Given the description of an element on the screen output the (x, y) to click on. 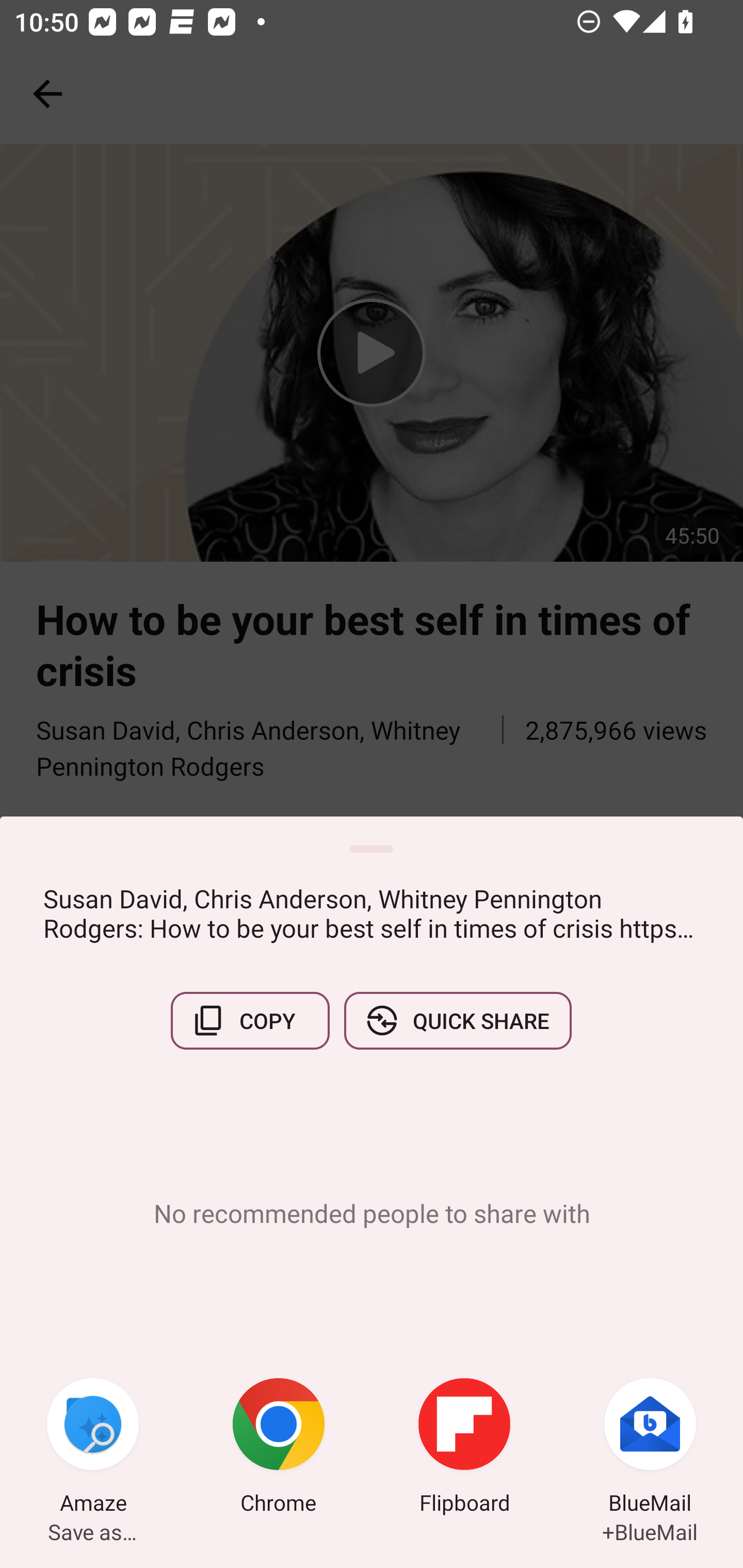
COPY (249, 1020)
QUICK SHARE (457, 1020)
Amaze Save as… (92, 1448)
Chrome (278, 1448)
Flipboard (464, 1448)
BlueMail +BlueMail (650, 1448)
